Given the description of an element on the screen output the (x, y) to click on. 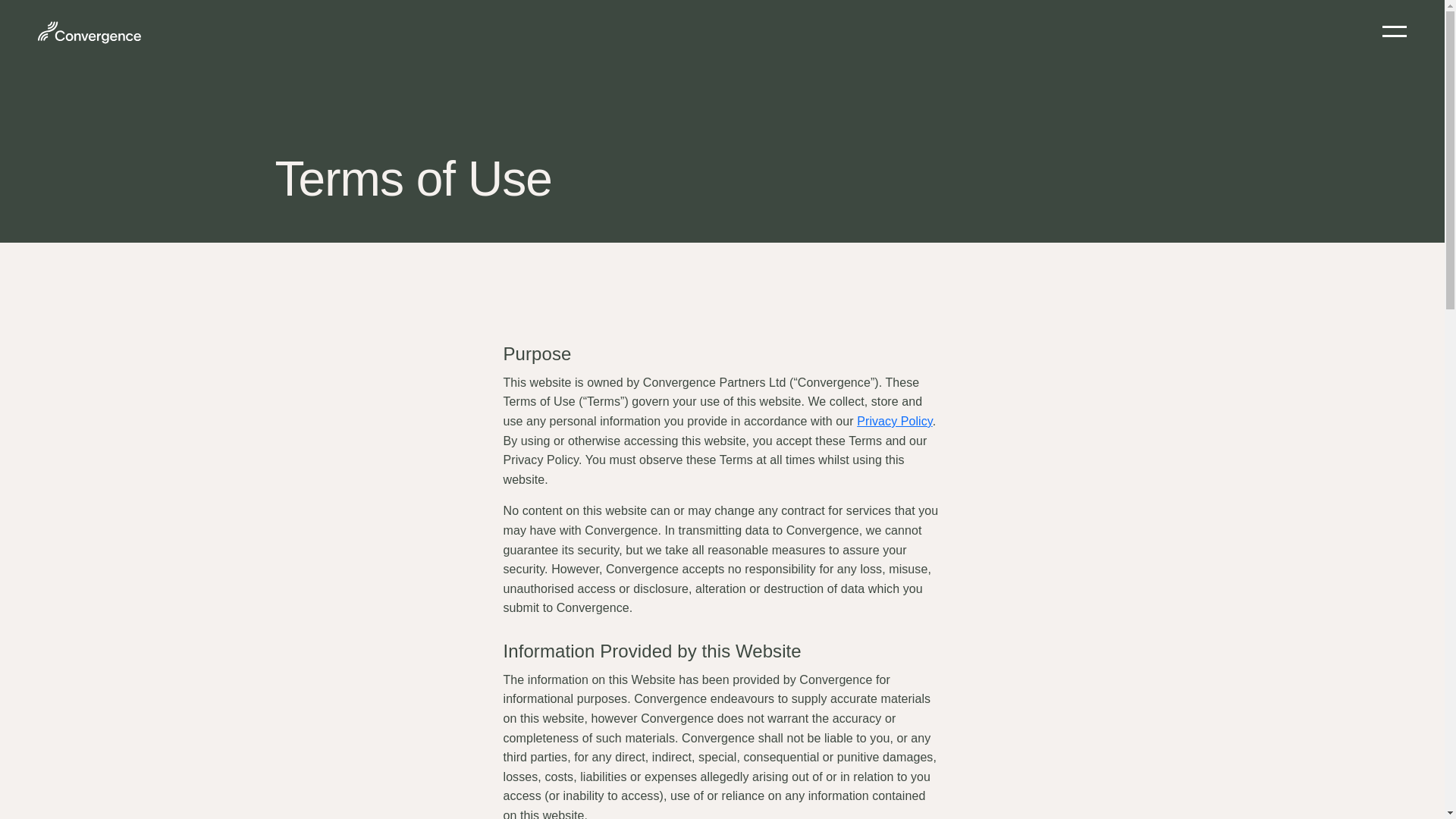
Privacy Policy (895, 420)
